Given the description of an element on the screen output the (x, y) to click on. 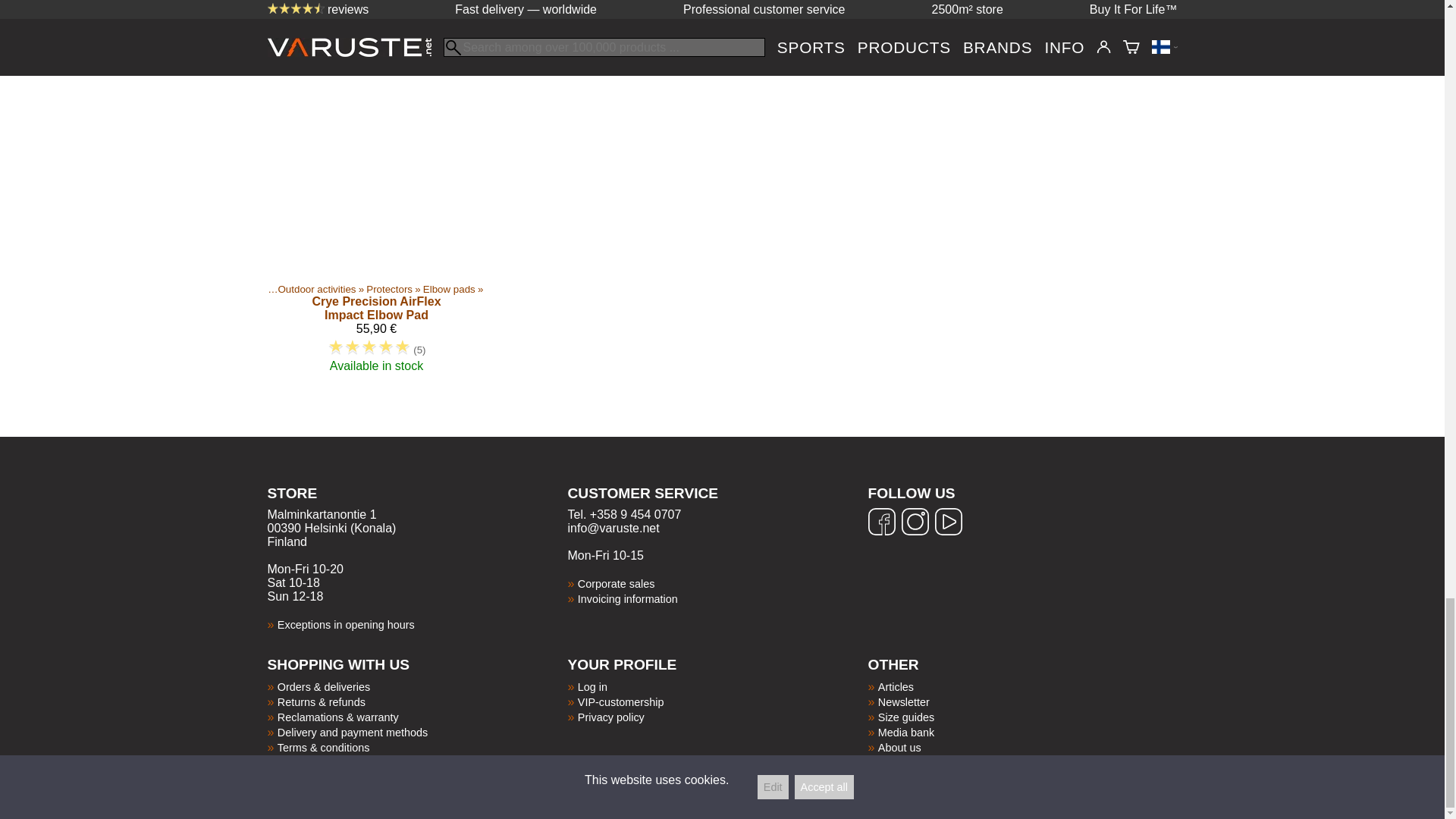
CUSTOMER SERVICE (717, 502)
Exceptions in opening hours (346, 624)
